Given the description of an element on the screen output the (x, y) to click on. 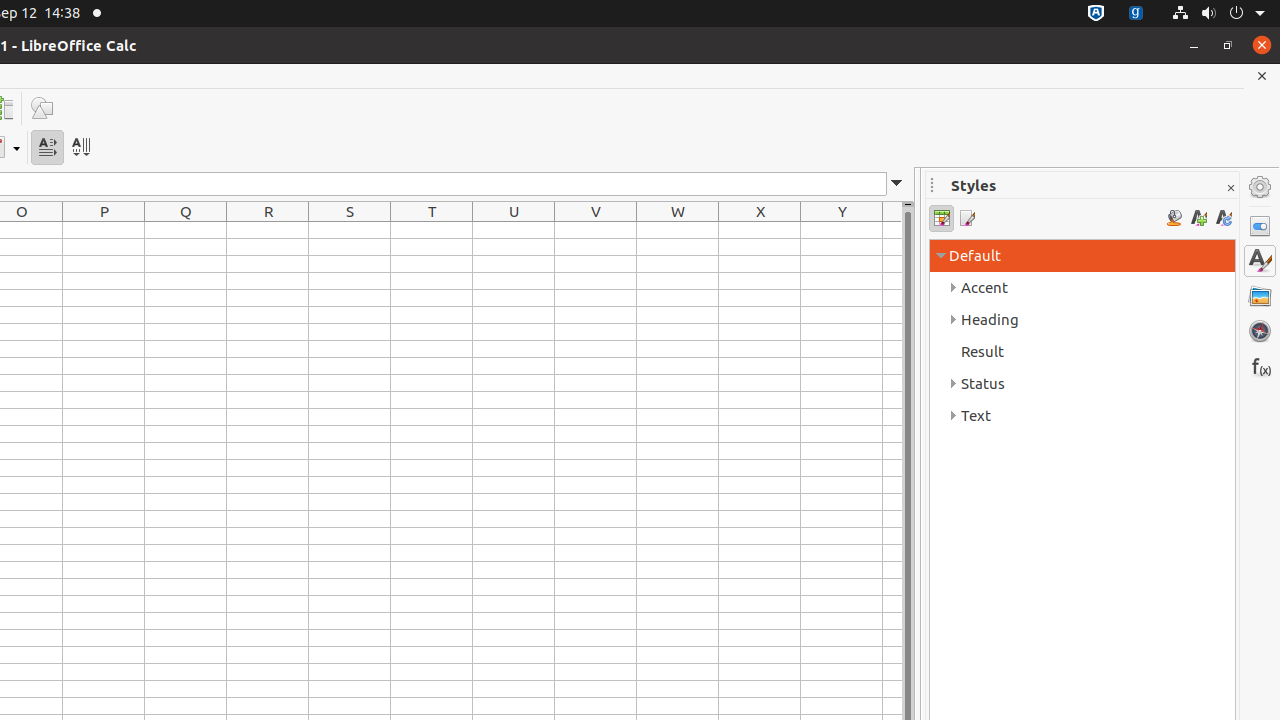
:1.21/StatusNotifierItem Element type: menu (1136, 13)
Text direction from top to bottom Element type: toggle-button (80, 147)
System Element type: menu (1218, 13)
:1.72/StatusNotifierItem Element type: menu (1096, 13)
